Given the description of an element on the screen output the (x, y) to click on. 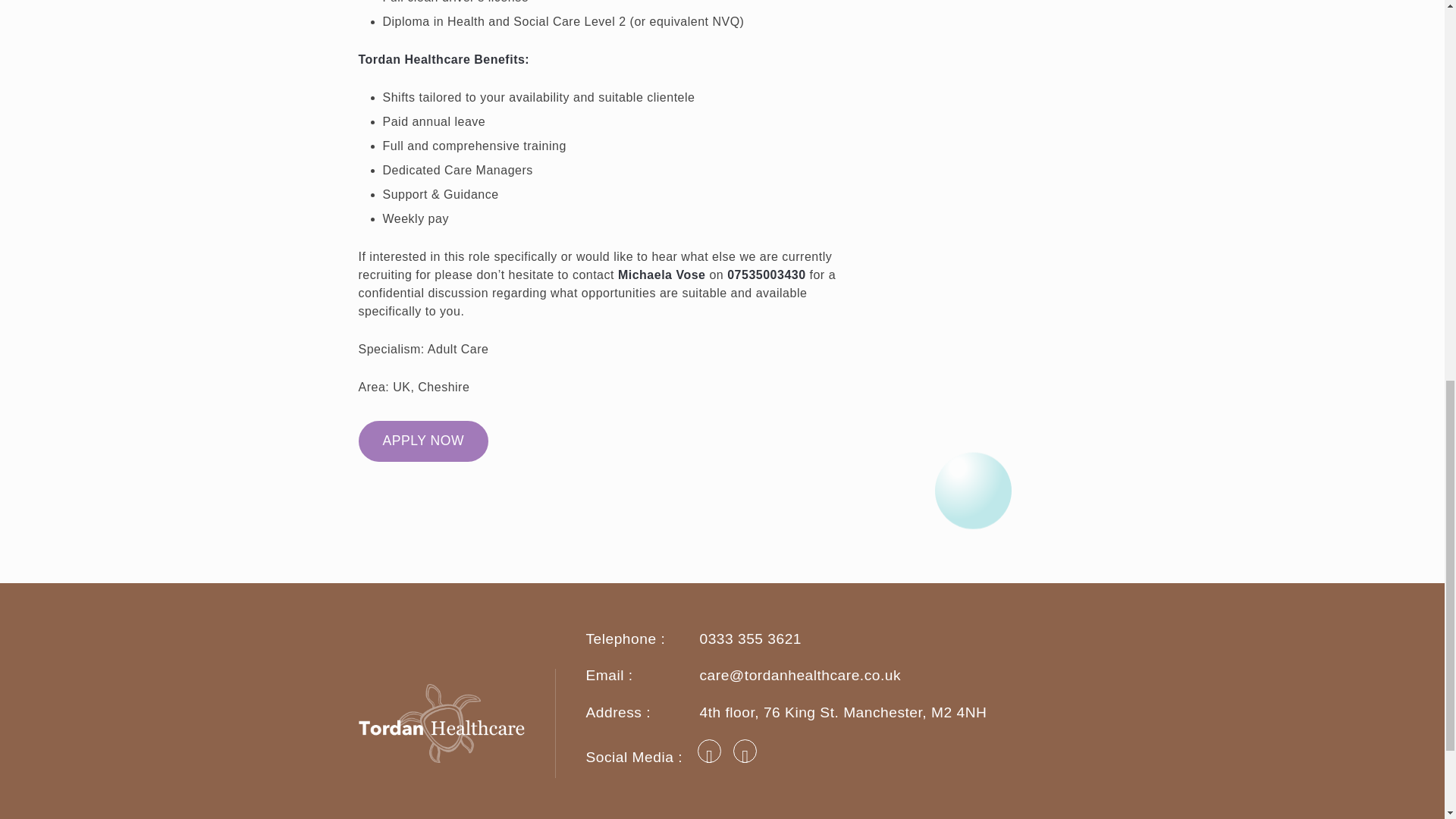
APPLY NOW (422, 440)
Tordan Healthcare Logo (456, 723)
